Given the description of an element on the screen output the (x, y) to click on. 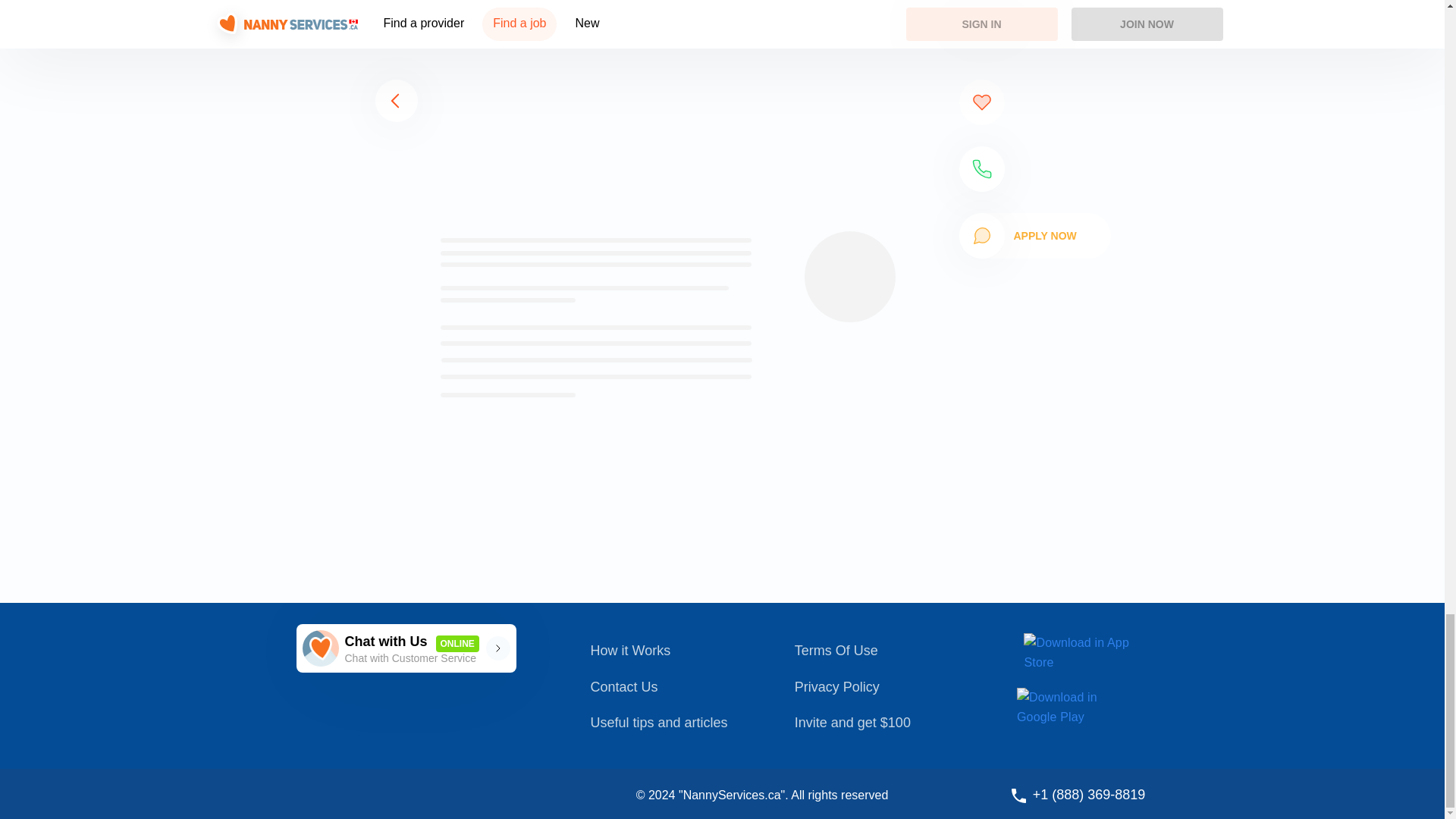
Useful tips and articles (405, 648)
Loading... (668, 723)
Terms Of Use (682, 113)
Contact Us (878, 651)
How it Works (668, 687)
Loading... (668, 651)
